Given the description of an element on the screen output the (x, y) to click on. 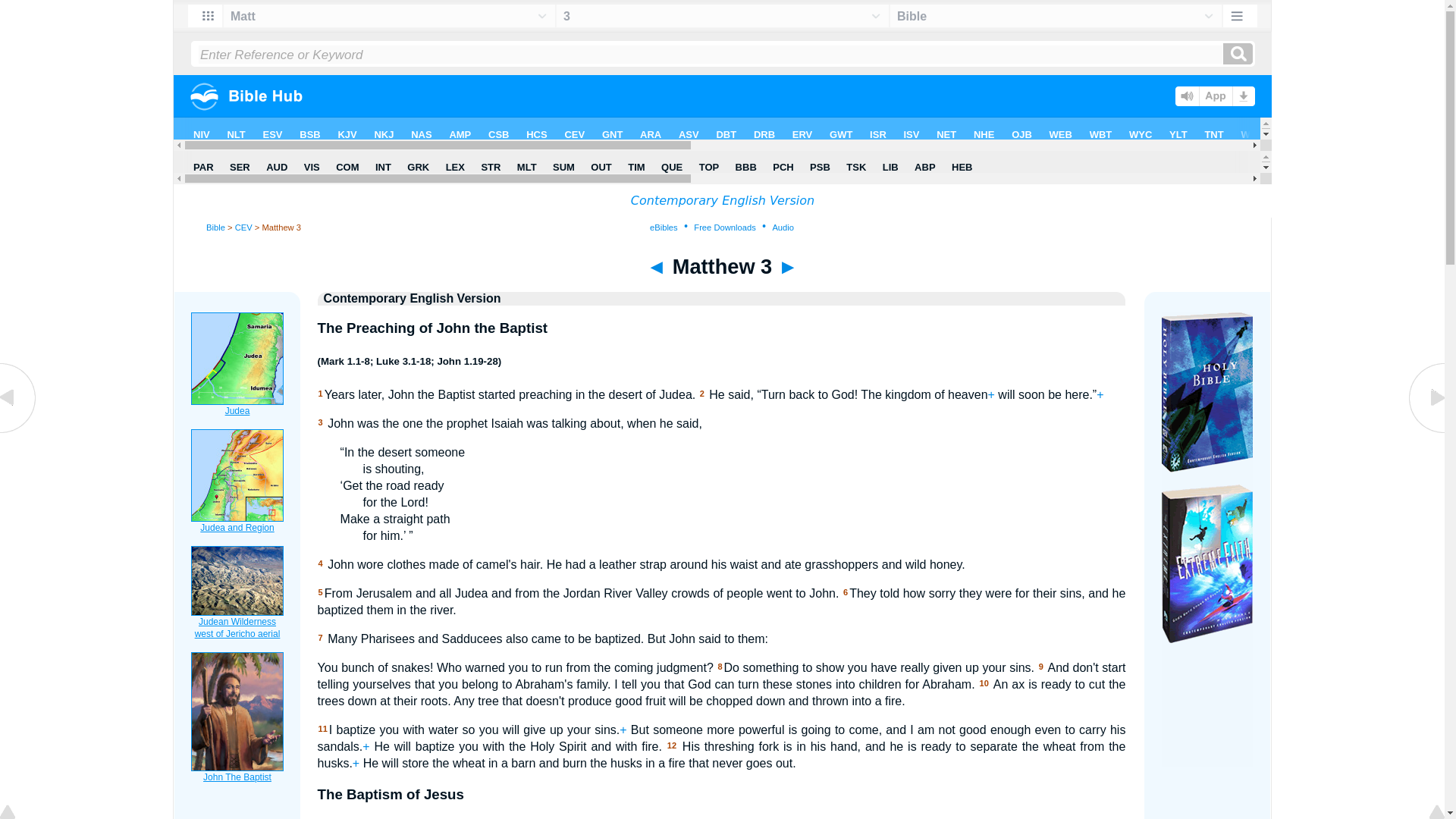
Top of Page (18, 813)
CEV (242, 226)
Bible (215, 226)
Matthew 2 (18, 431)
